Given the description of an element on the screen output the (x, y) to click on. 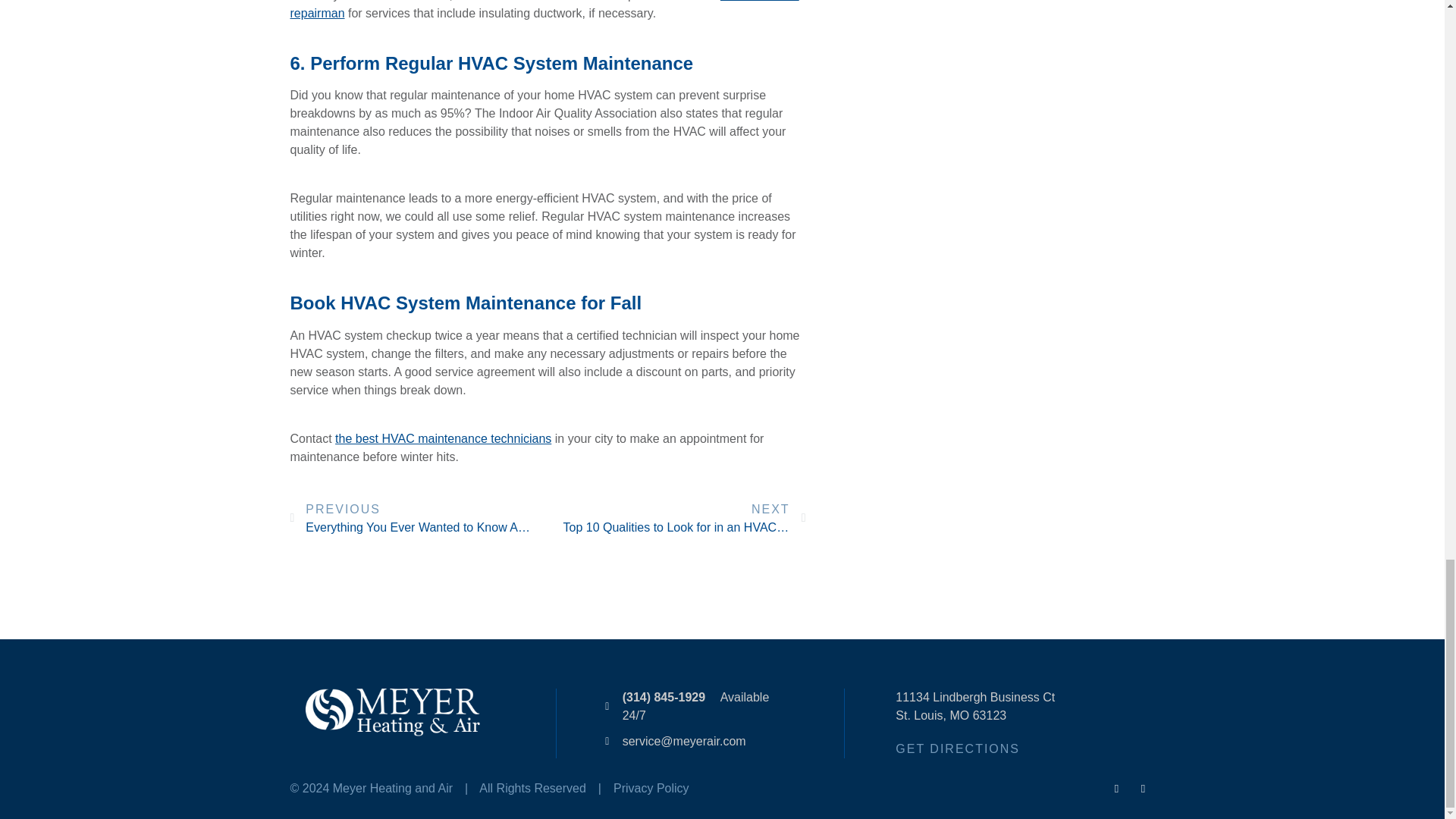
the best HVAC maintenance technicians (442, 438)
talk to a HVAC repairman (543, 9)
the best HVAC maintenance technicians (442, 438)
talk to a HVAC repairman (543, 9)
